Given the description of an element on the screen output the (x, y) to click on. 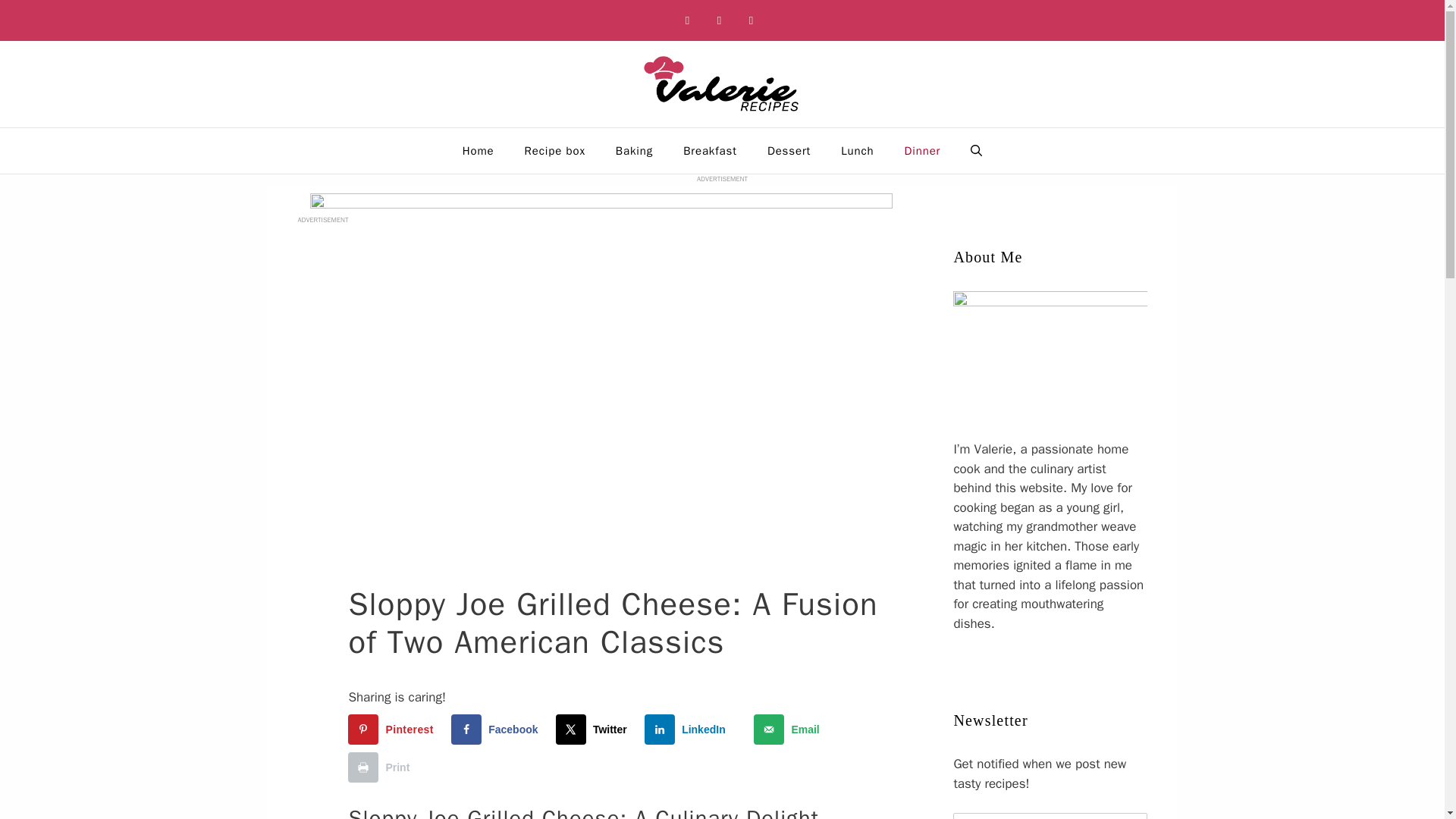
Send over email (789, 729)
Share on X (594, 729)
Print this webpage (381, 767)
Dinner (922, 150)
Baking (633, 150)
Share on LinkedIn (688, 729)
Home (477, 150)
Save to Pinterest (393, 729)
Share on Facebook (497, 729)
Pinterest (393, 729)
Email (789, 729)
Lunch (856, 150)
Twitter (594, 729)
Facebook (687, 20)
Print (381, 767)
